Given the description of an element on the screen output the (x, y) to click on. 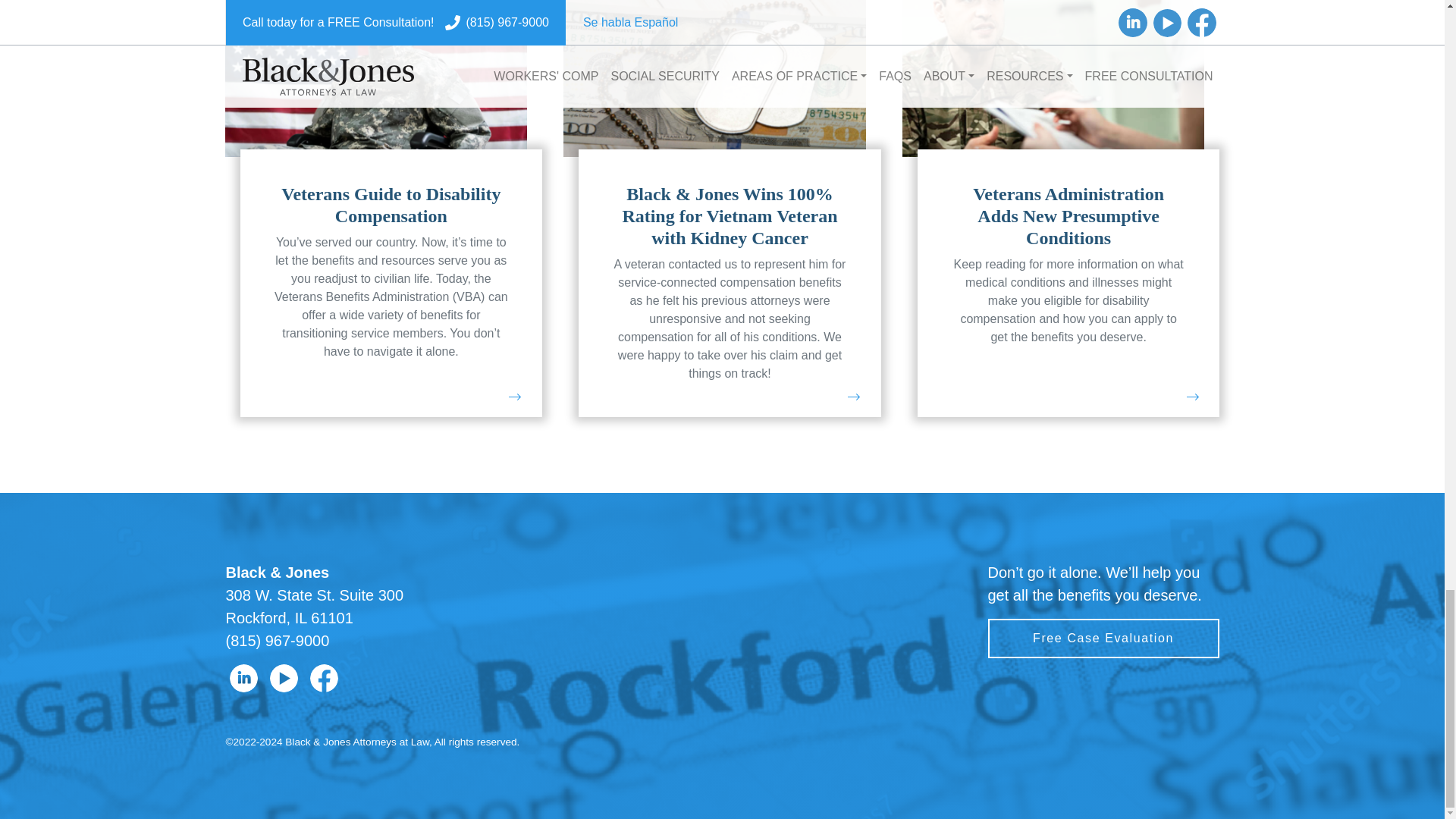
Veterans Administration Adds New Presumptive Conditions (1067, 216)
Veterans Guide to Disability Compensation (390, 205)
